Given the description of an element on the screen output the (x, y) to click on. 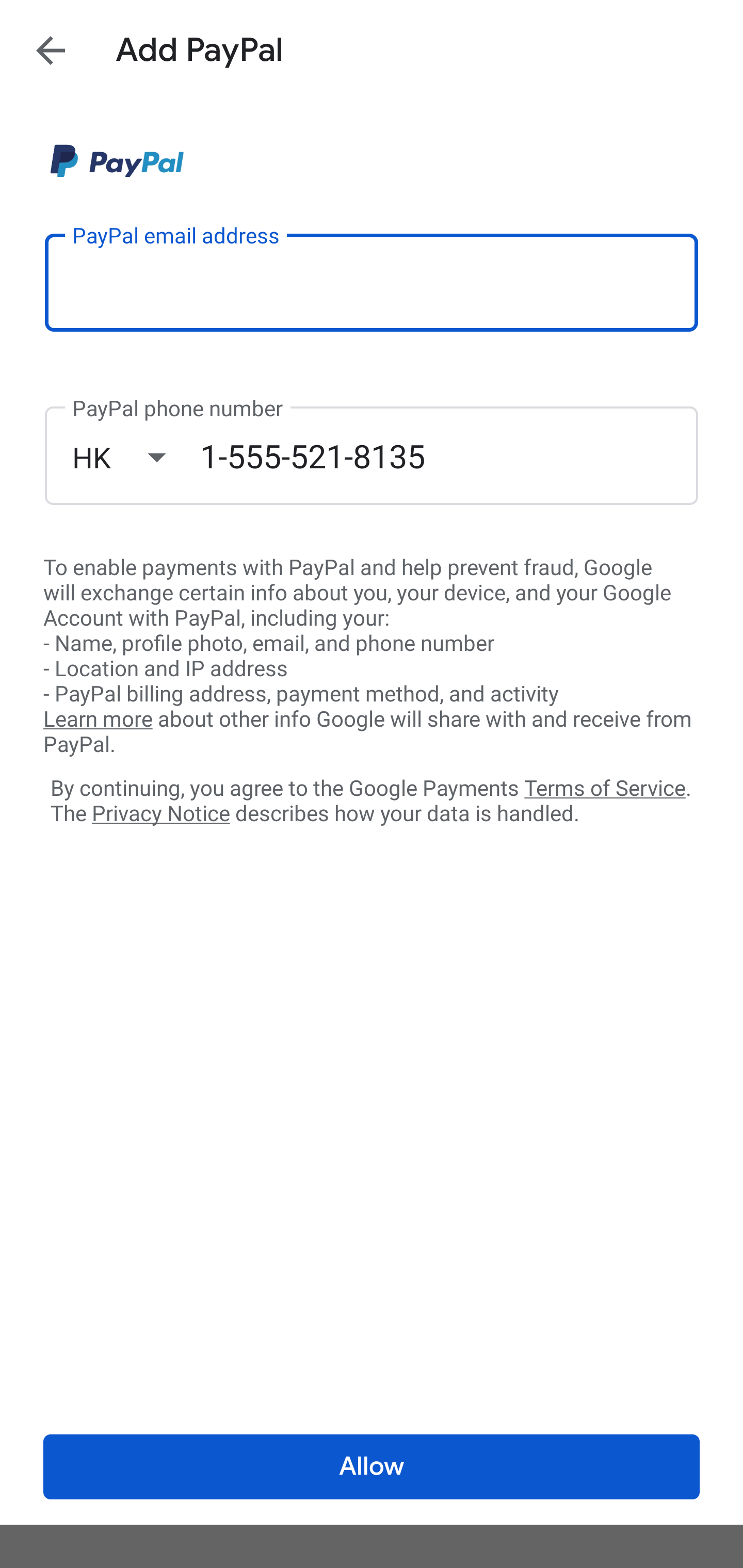
Navigate up (50, 50)
PayPal email address (371, 282)
HK (135, 456)
Learn more (97, 719)
Terms of Service (604, 787)
Privacy Notice (160, 814)
Allow (371, 1466)
